Given the description of an element on the screen output the (x, y) to click on. 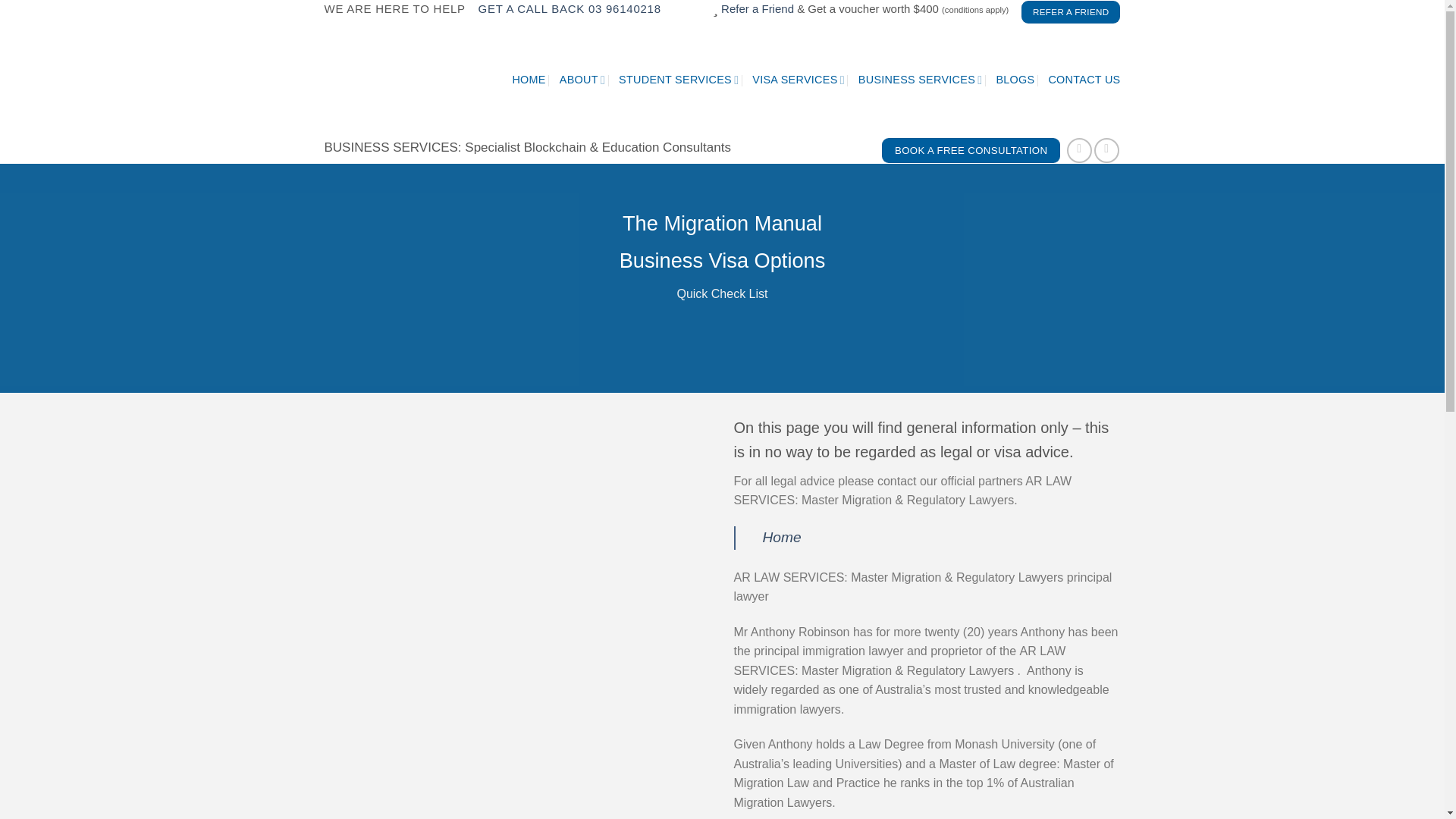
BLOGS (1014, 79)
Refer a Friend (756, 8)
Follow on Twitter (1106, 150)
ABOUT (582, 79)
VISA SERVICES (798, 79)
HOME (528, 79)
Follow on Facebook (1079, 150)
Home (782, 537)
REFER A FRIEND (1070, 11)
BOOK A FREE CONSULTATION (970, 150)
